Given the description of an element on the screen output the (x, y) to click on. 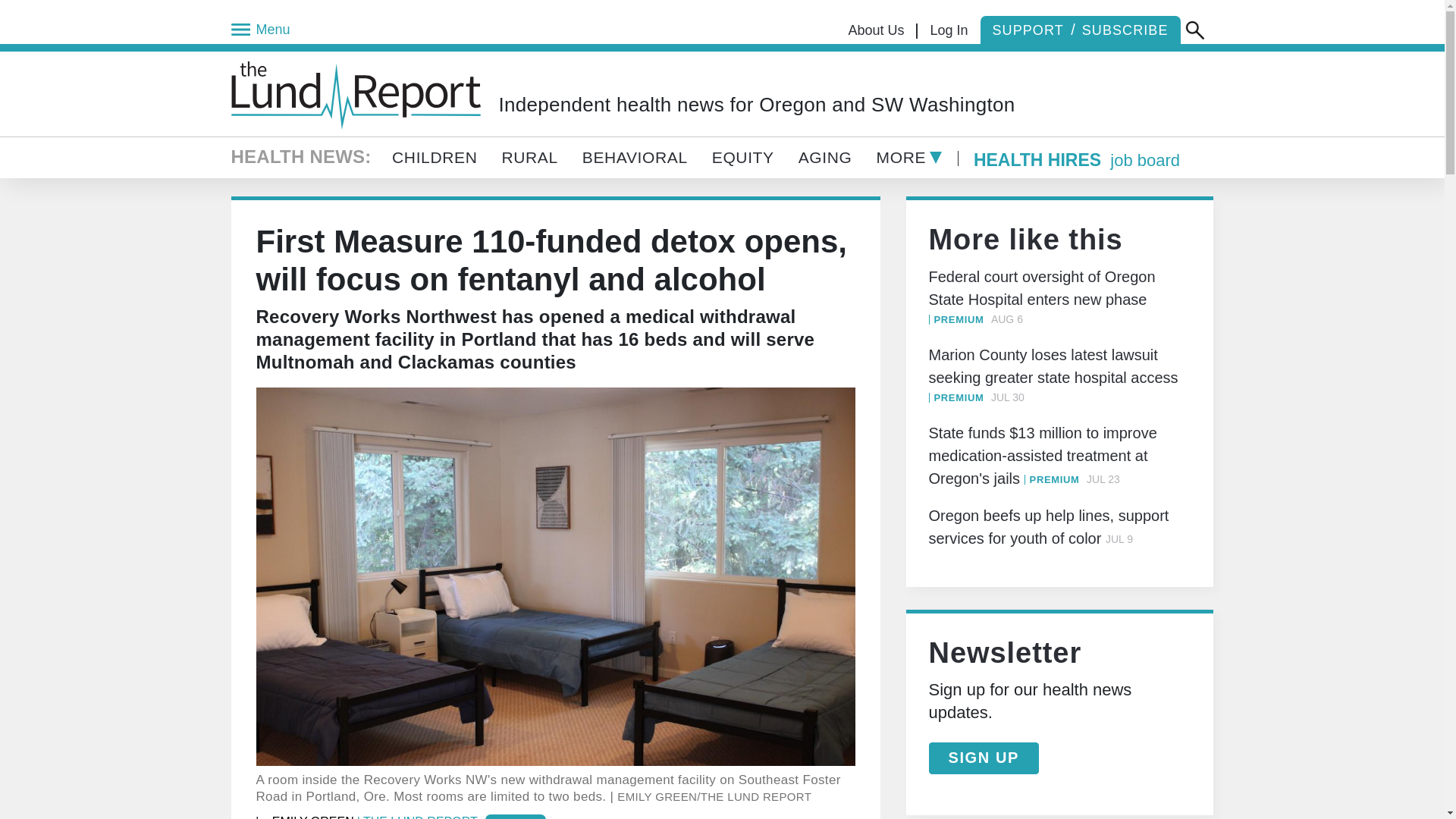
SUBSCRIBE (1127, 30)
RURAL (529, 157)
Search (1195, 30)
HEALTH HIRES  job board (1076, 161)
AGING (825, 157)
CHILDREN (440, 157)
About Us (876, 30)
EQUITY (743, 157)
Log In (948, 30)
SUPPORT (1027, 30)
